Given the description of an element on the screen output the (x, y) to click on. 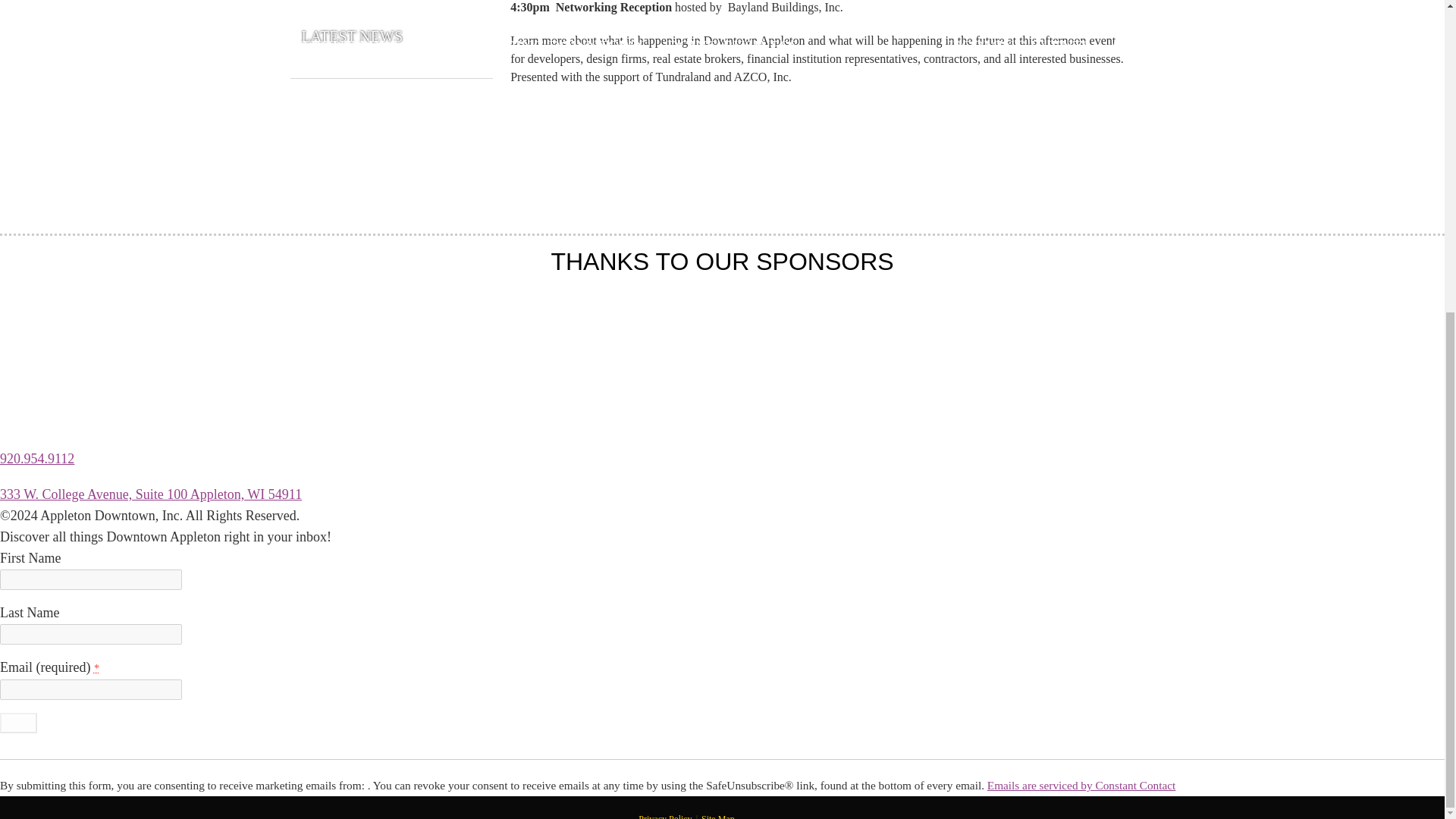
GO! (18, 722)
